Given the description of an element on the screen output the (x, y) to click on. 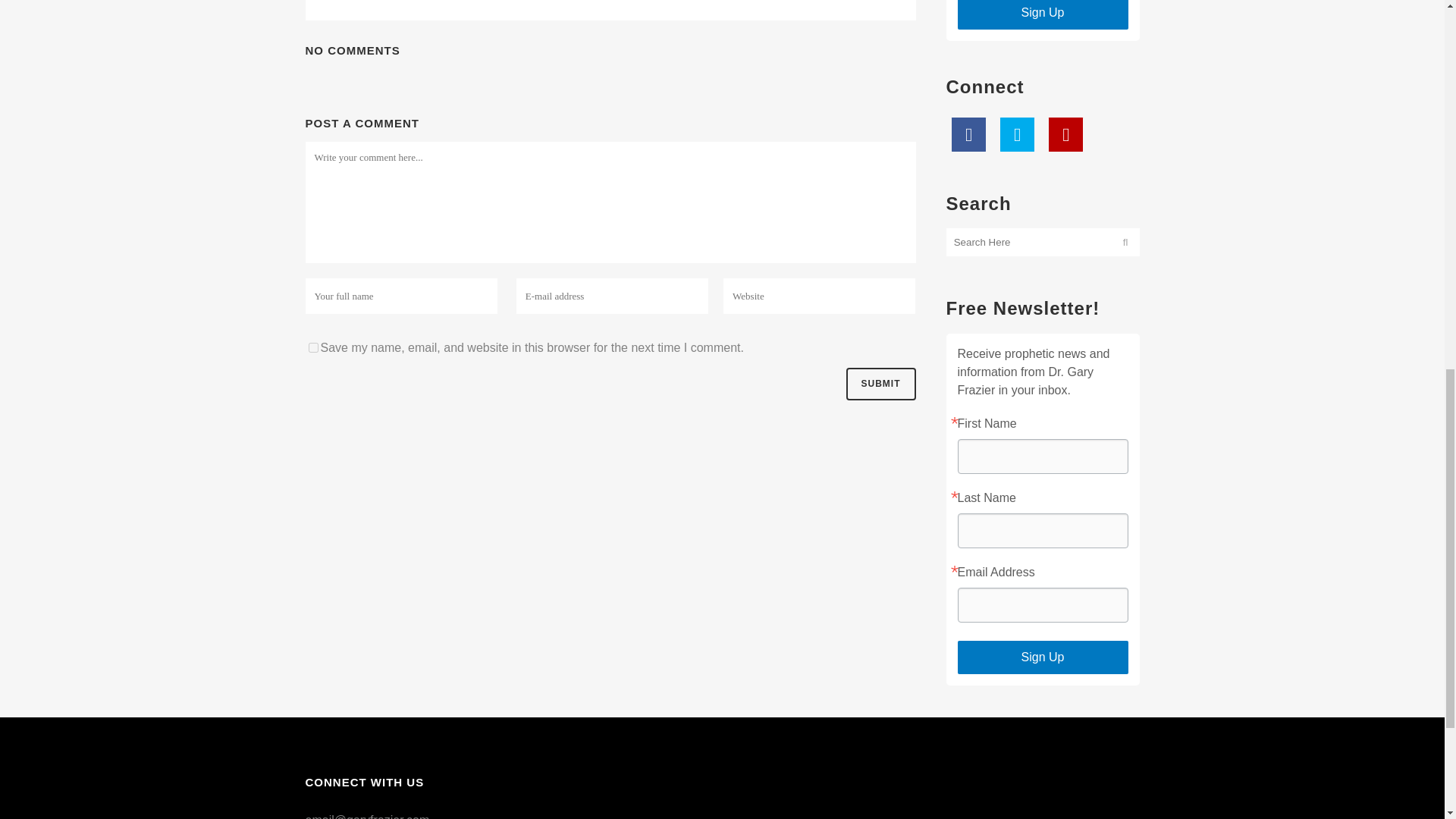
yes (312, 347)
Submit (880, 383)
Submit (880, 383)
